Given the description of an element on the screen output the (x, y) to click on. 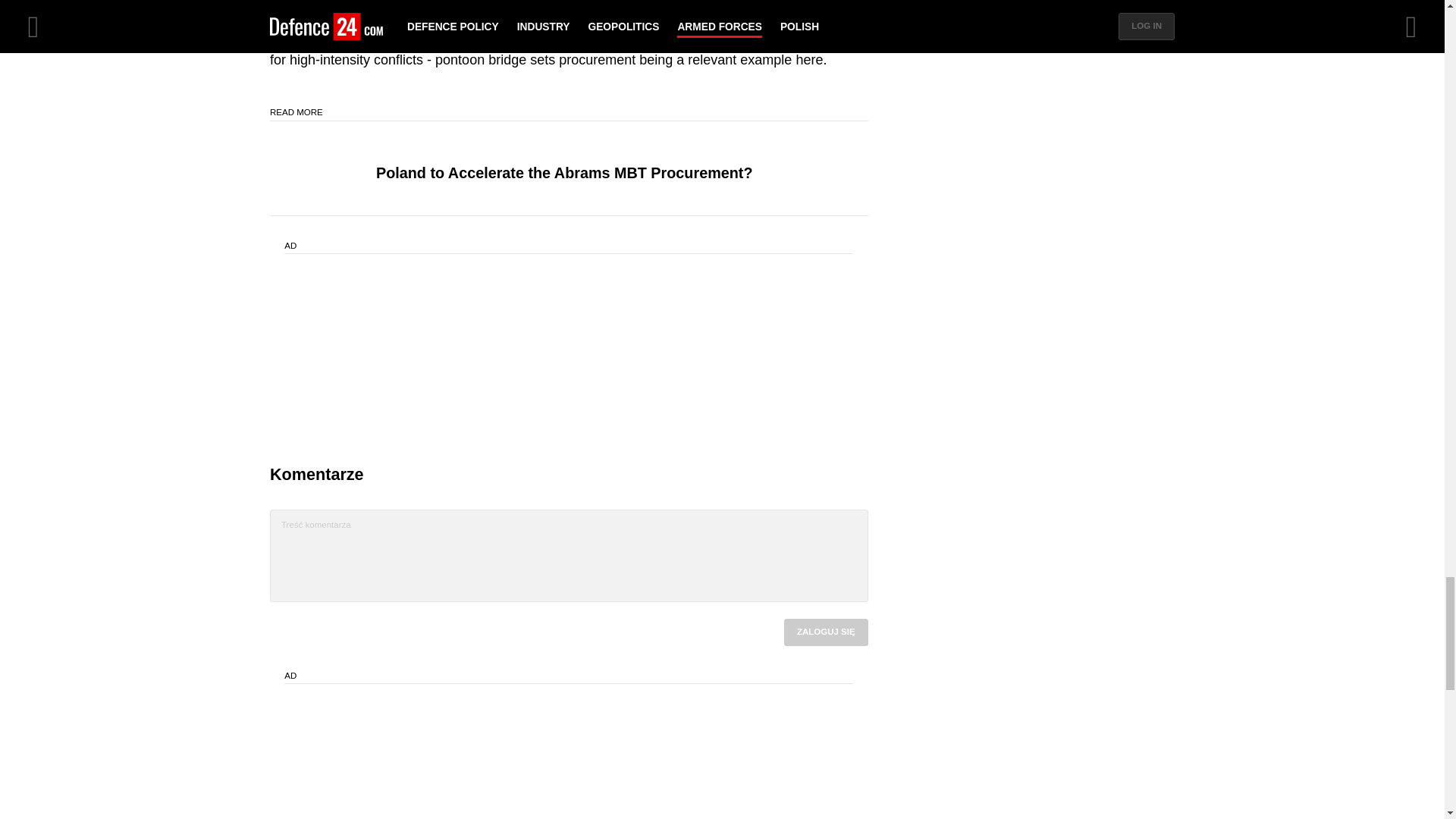
Poland to Accelerate the Abrams MBT Procurement? (563, 172)
